Given the description of an element on the screen output the (x, y) to click on. 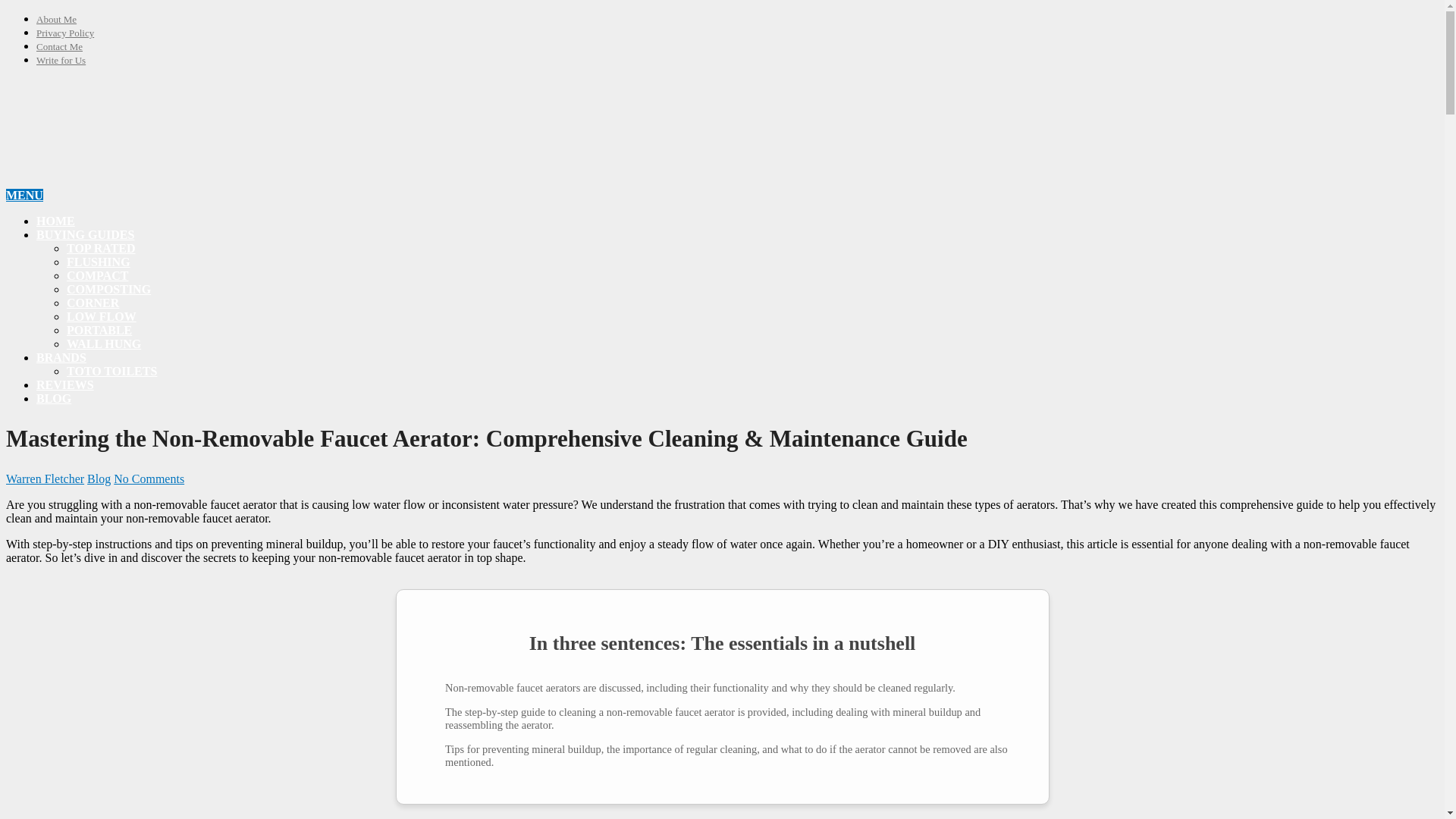
FLUSHING (98, 261)
BUYING GUIDES (84, 234)
No Comments (148, 478)
BRANDS (60, 357)
Privacy Policy (65, 32)
Blog (98, 478)
Posts by Warren Fletcher (44, 478)
Warren Fletcher (44, 478)
HOME (55, 220)
COMPOSTING (108, 288)
TOTO TOILETS (111, 370)
BLOG (53, 398)
Write for Us (60, 60)
CORNER (92, 302)
View all posts in Blog (98, 478)
